Given the description of an element on the screen output the (x, y) to click on. 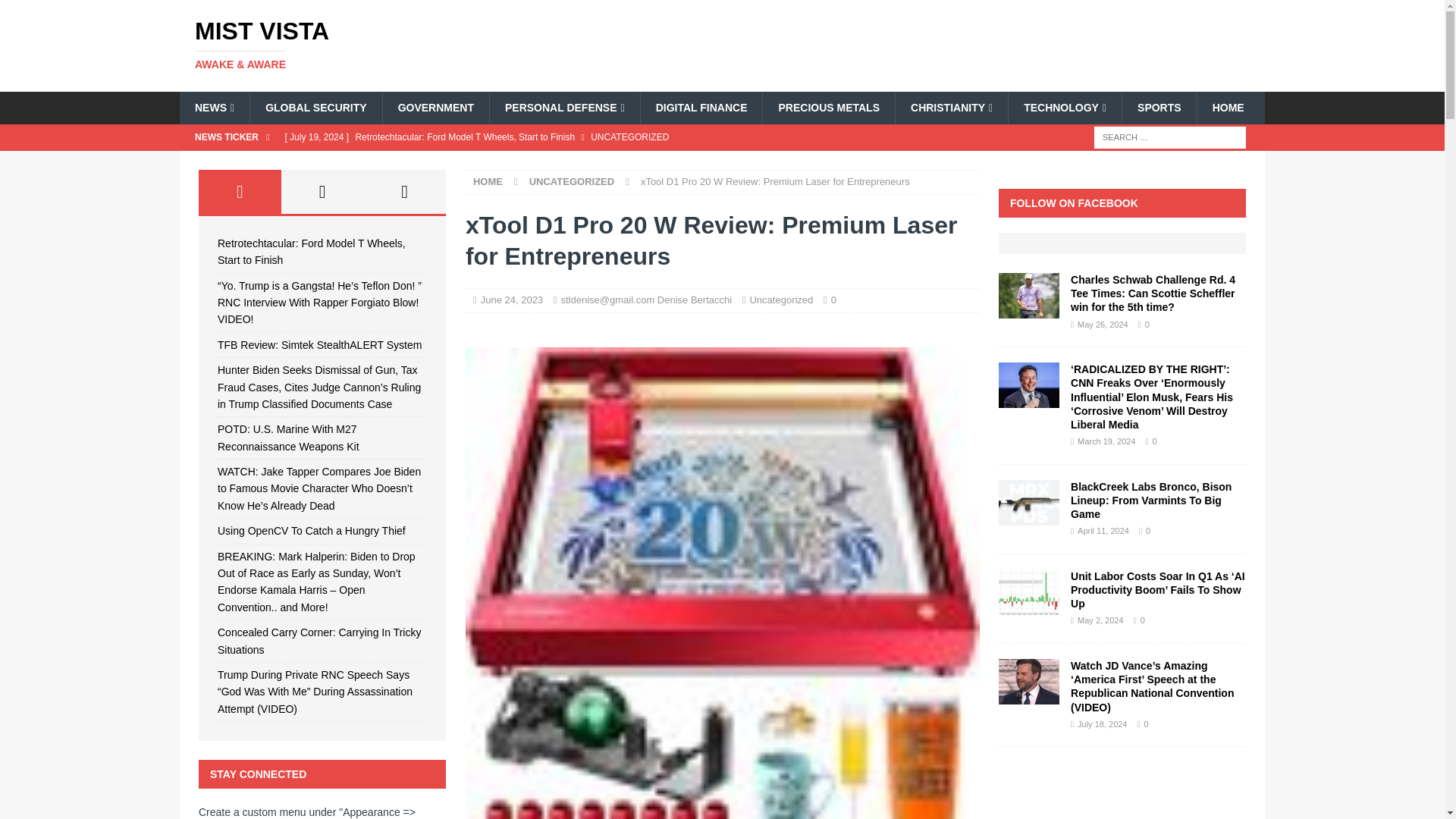
GLOBAL SECURITY (314, 107)
HOME (1227, 107)
NEWS (213, 107)
DIGITAL FINANCE (701, 107)
CHRISTIANITY (951, 107)
GOVERNMENT (435, 107)
PRECIOUS METALS (828, 107)
Retrotechtacular: Ford Model T Wheels, Start to Finish (581, 136)
PERSONAL DEFENSE (564, 107)
Search (56, 11)
SPORTS (1158, 107)
TECHNOLOGY (1064, 107)
Mist Vista (351, 44)
